Given the description of an element on the screen output the (x, y) to click on. 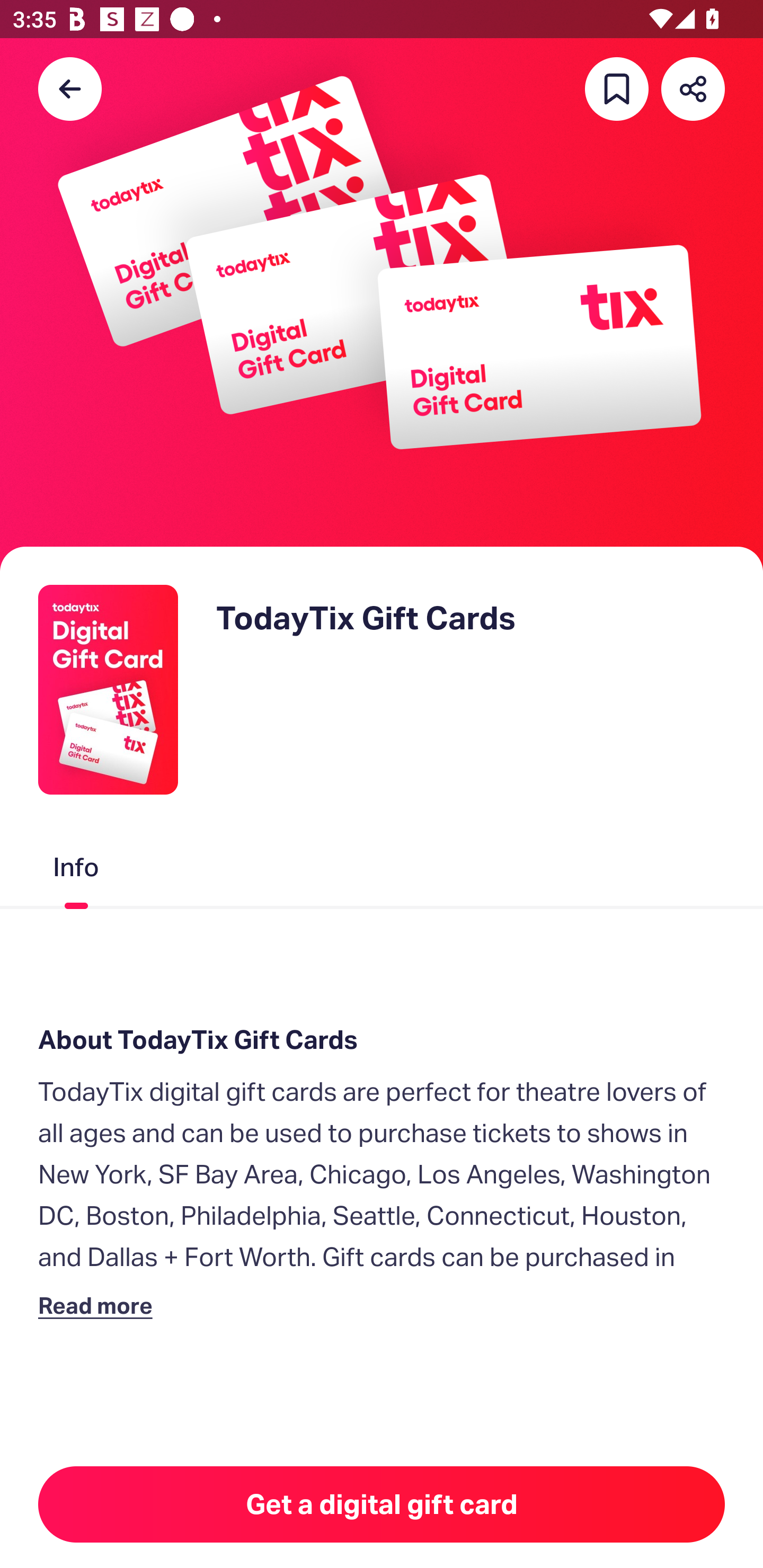
About TodayTix Gift Cards (381, 1039)
Read more (99, 1305)
Get a digital gift card (381, 1504)
